Given the description of an element on the screen output the (x, y) to click on. 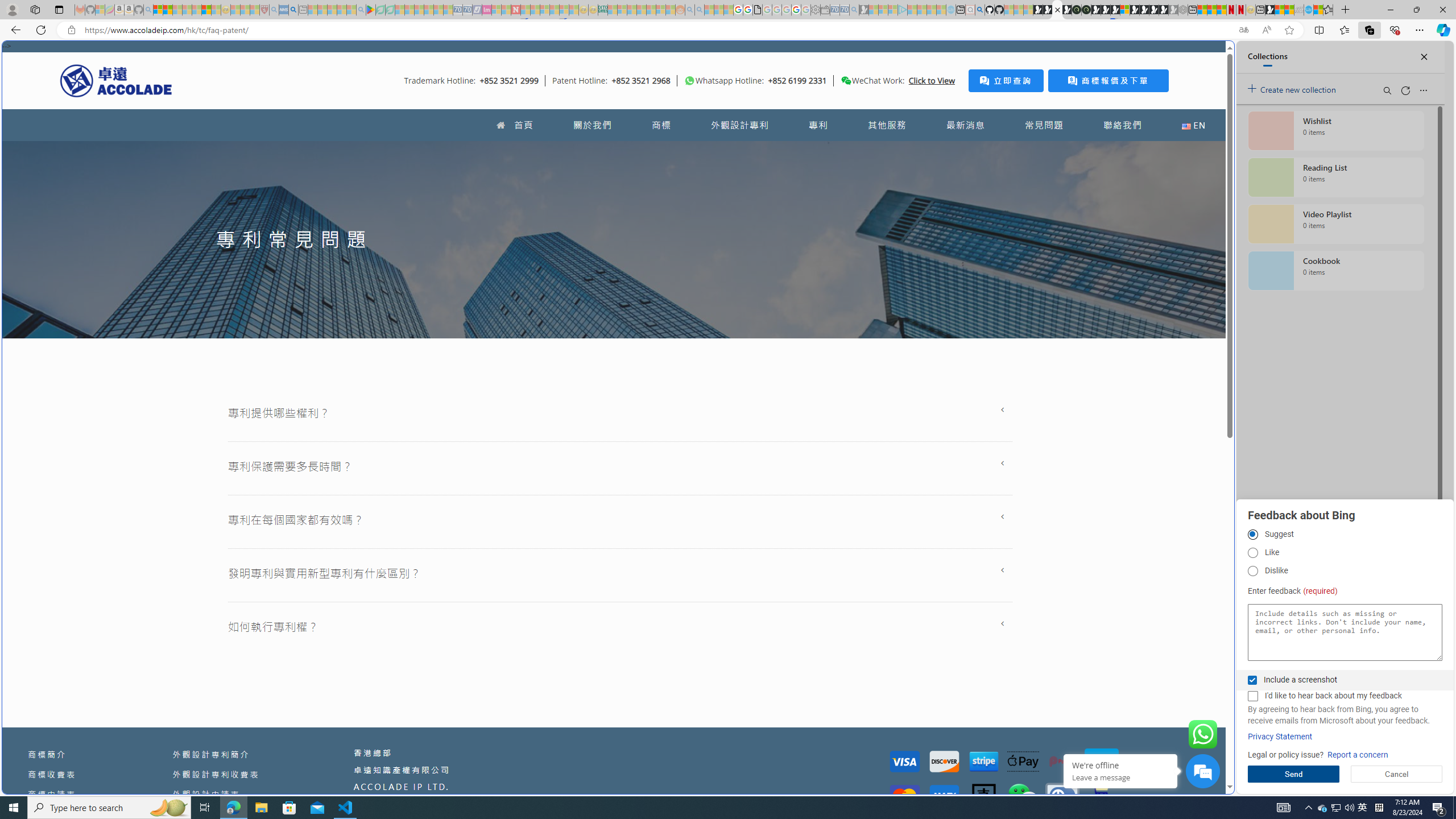
Frequently visited (965, 151)
Settings - Sleeping (815, 9)
